Given the description of an element on the screen output the (x, y) to click on. 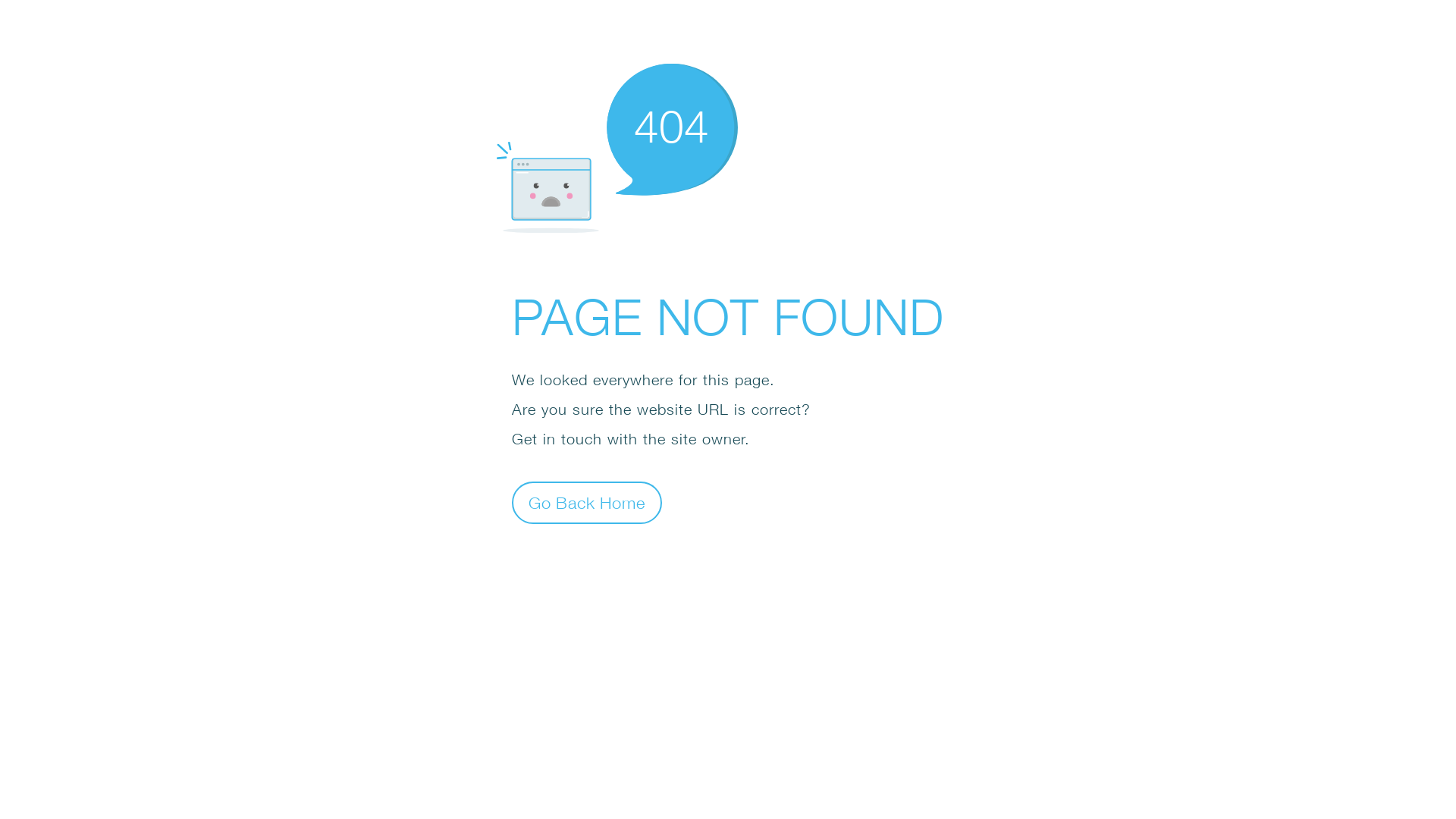
Go Back Home Element type: text (586, 502)
